Given the description of an element on the screen output the (x, y) to click on. 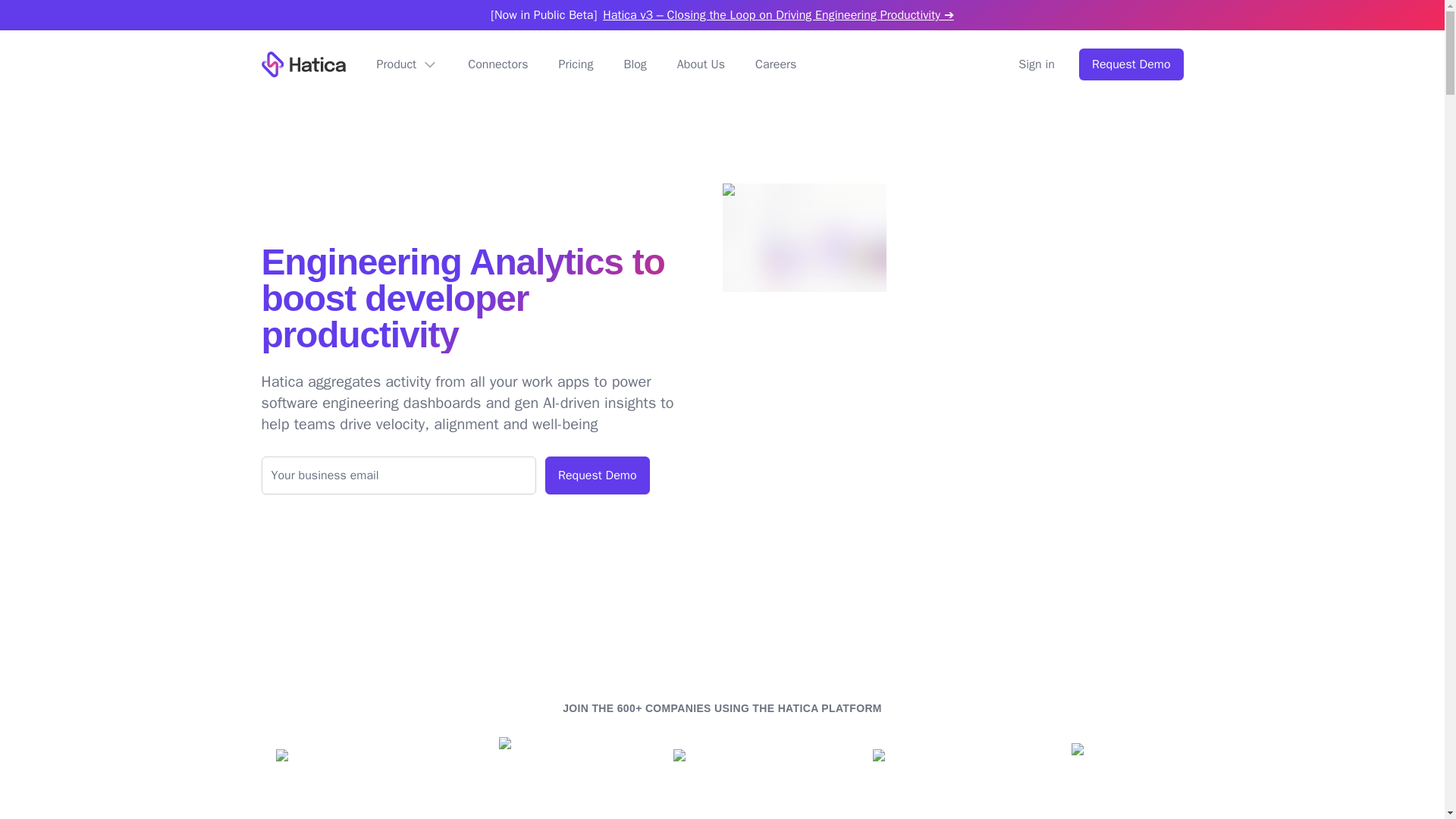
Workflow (303, 63)
Sign in (1035, 64)
Product (406, 64)
Connectors (497, 64)
Pricing (574, 64)
Blog (634, 64)
Request Demo (596, 475)
Request Demo (1130, 64)
Careers (775, 64)
About Us (701, 64)
